Given the description of an element on the screen output the (x, y) to click on. 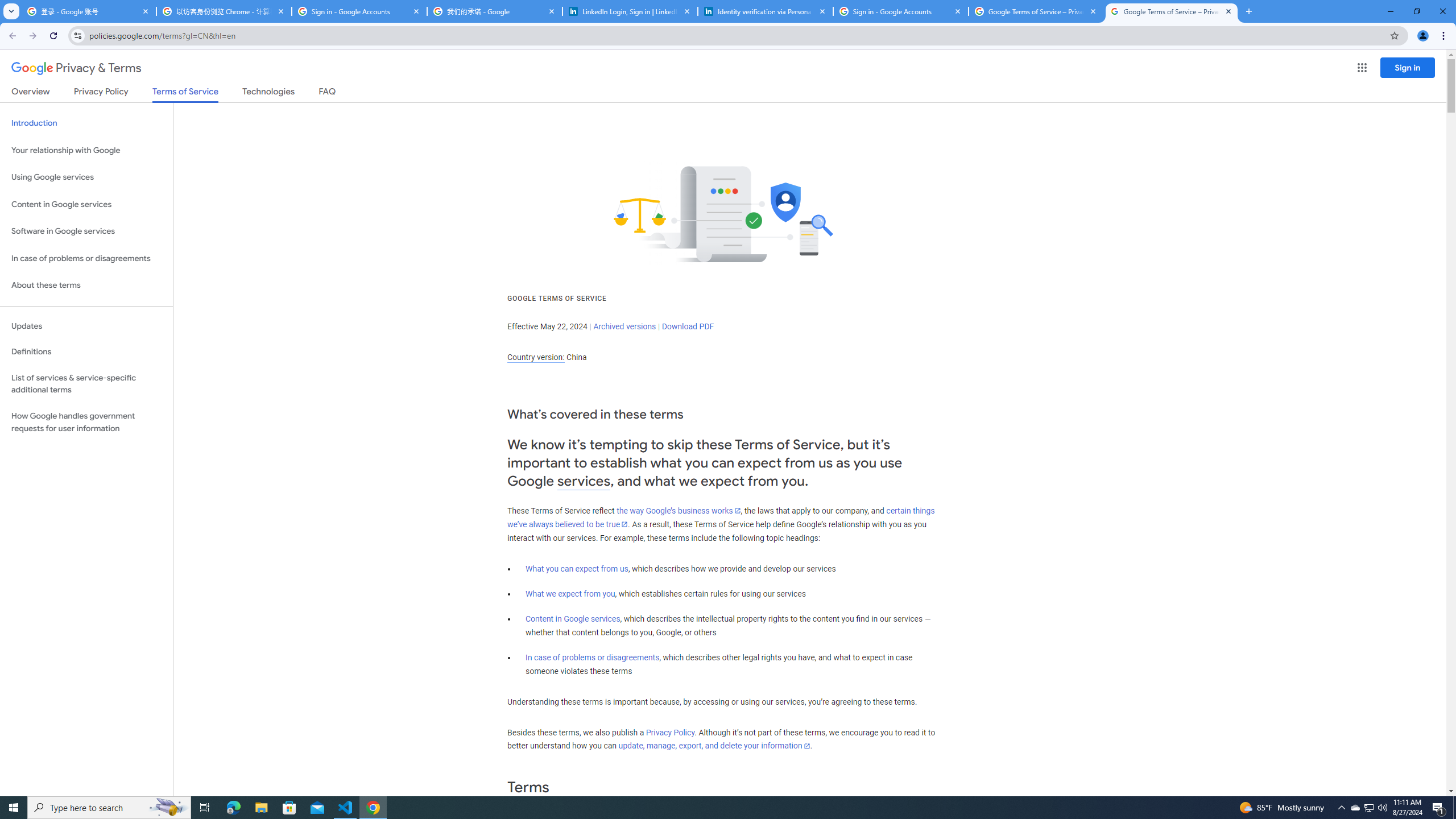
Definitions (86, 352)
What we expect from you (570, 593)
What you can expect from us (576, 568)
Software in Google services (86, 230)
update, manage, export, and delete your information (714, 746)
Your relationship with Google (86, 150)
Using Google services (86, 176)
